Given the description of an element on the screen output the (x, y) to click on. 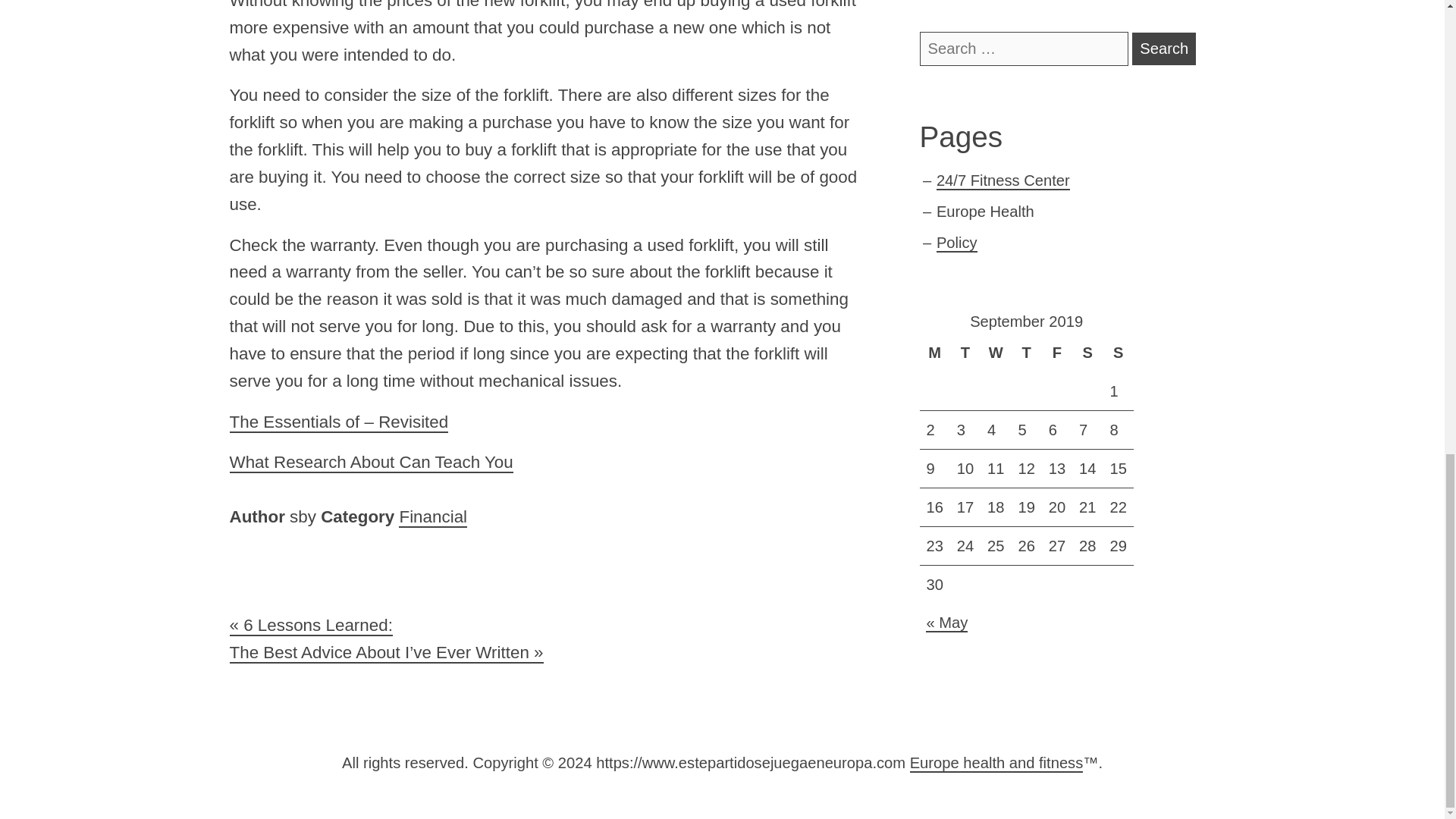
Europe health and fitness (996, 763)
What Research About Can Teach You (370, 462)
6 Lessons Learned: (309, 625)
Policy (956, 243)
Search (1163, 48)
Financial (432, 516)
Search (1163, 48)
Europe Health (984, 211)
Search (1163, 48)
